Given the description of an element on the screen output the (x, y) to click on. 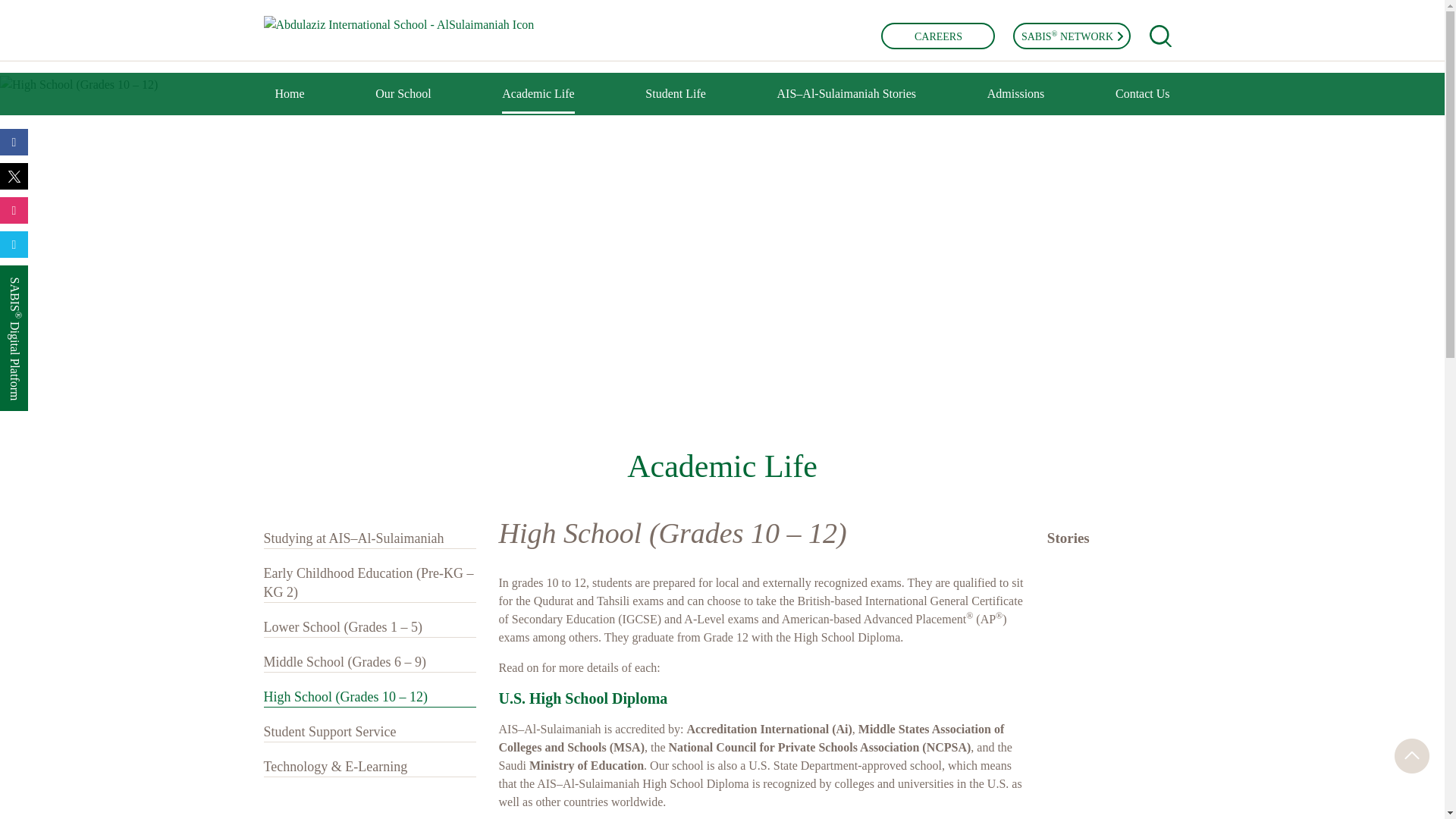
Academic Life (538, 99)
Student Life (675, 101)
Home (289, 101)
Our School (402, 101)
CAREERS (937, 35)
Contact Us (1142, 101)
Abdulaziz International School - Al-Sulaimaniah (398, 24)
Admissions (1016, 101)
